Given the description of an element on the screen output the (x, y) to click on. 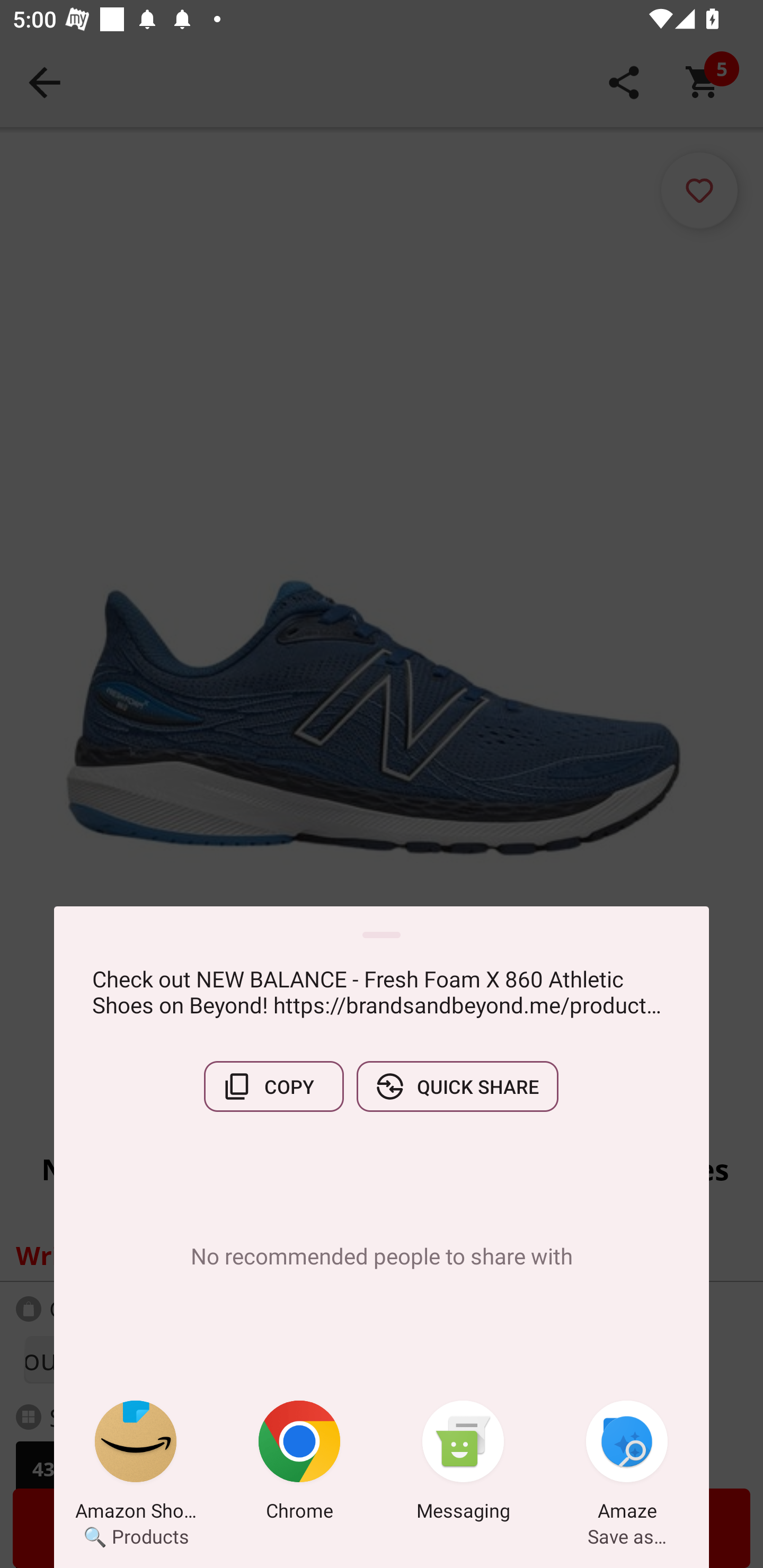
COPY (273, 1086)
QUICK SHARE (457, 1086)
Amazon Shopping 🔍 Products (135, 1463)
Chrome (299, 1463)
Messaging (463, 1463)
Amaze Save as… (626, 1463)
